Given the description of an element on the screen output the (x, y) to click on. 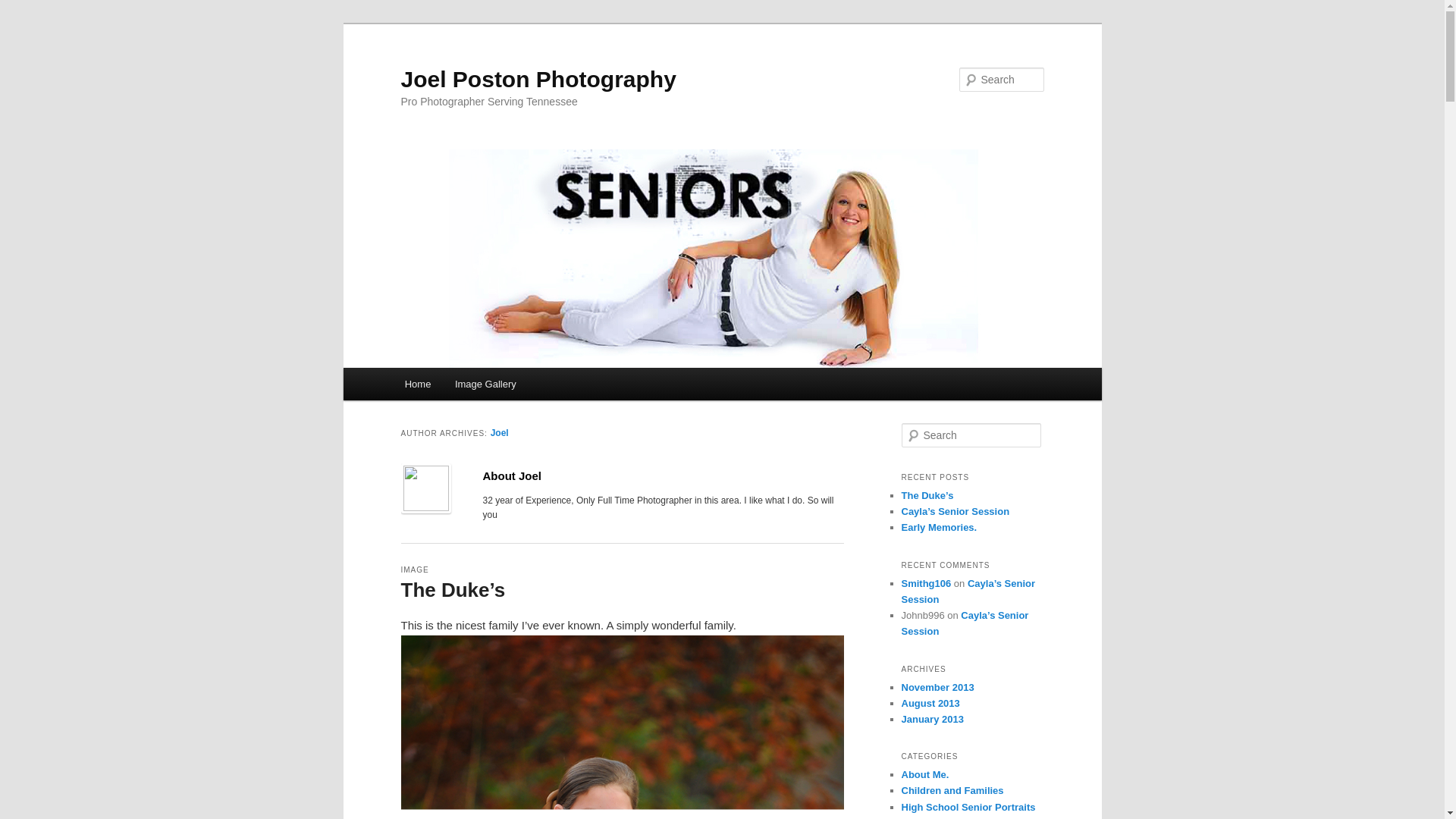
Image Gallery (484, 383)
Search (24, 8)
Joel Poston Photography (537, 78)
Home (417, 383)
Skip to secondary content (479, 386)
Joel (499, 432)
Skip to primary content (472, 386)
Joel (499, 432)
